Given the description of an element on the screen output the (x, y) to click on. 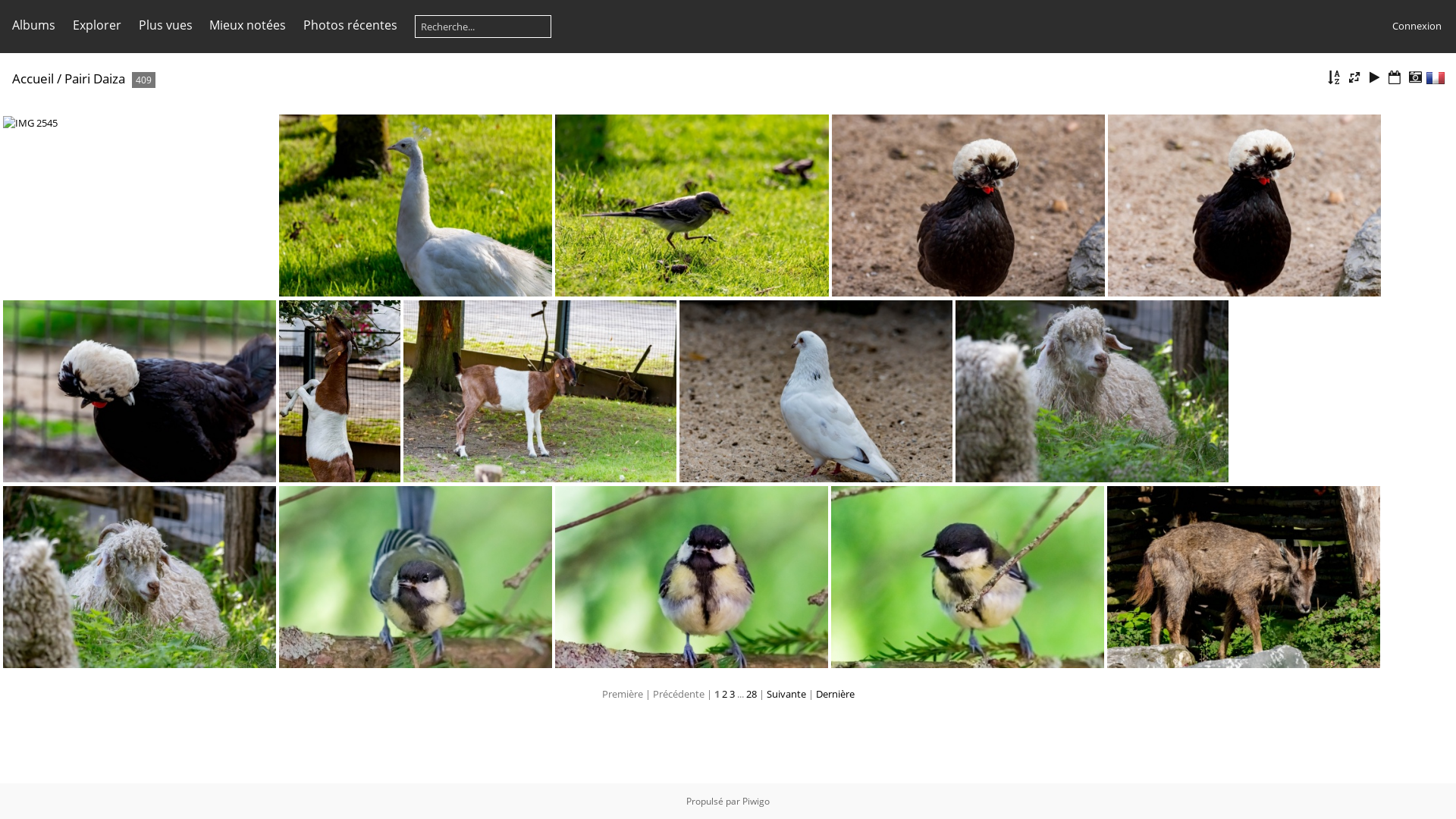
28 Element type: text (751, 693)
Albums Element type: text (33, 24)
diaporama Element type: hover (1374, 77)
Ordre de tri Element type: hover (1333, 77)
Langue Element type: hover (1436, 77)
Explorer Element type: text (96, 24)
Suivante Element type: text (785, 693)
  Element type: text (1436, 77)
Plus vues Element type: text (164, 24)
2 Element type: text (724, 693)
Connexion Element type: text (1416, 25)
Pairi Daiza Element type: text (94, 78)
Tailles de photo Element type: hover (1354, 77)
Accueil Element type: text (32, 78)
afficher un calendrier par date d'ajout Element type: hover (1394, 77)
3 Element type: text (731, 693)
Piwigo Element type: text (755, 800)
